Given the description of an element on the screen output the (x, y) to click on. 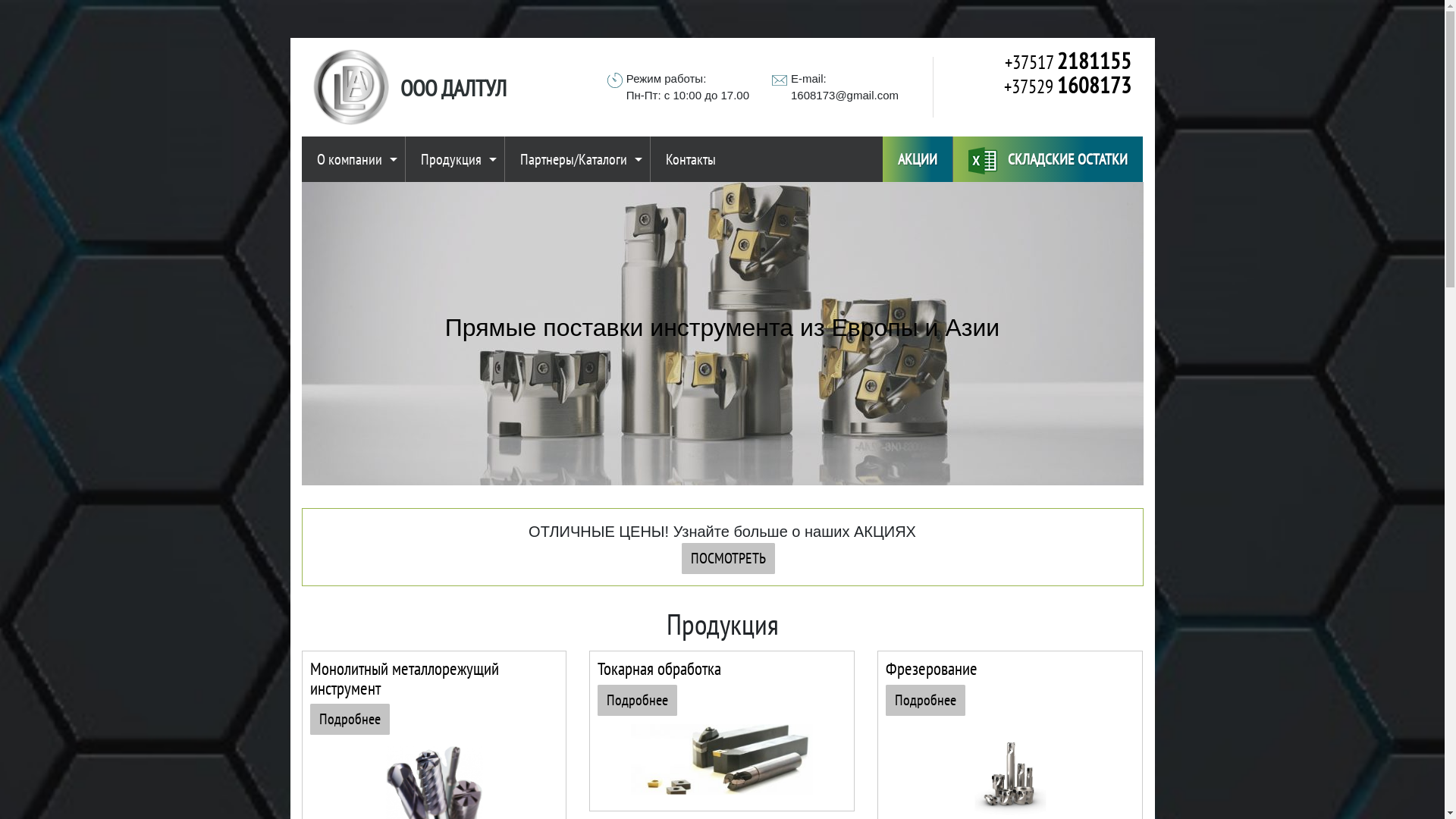
+37529 1608173 Element type: text (1038, 85)
+37517 2181155 Element type: text (1038, 61)
